Given the description of an element on the screen output the (x, y) to click on. 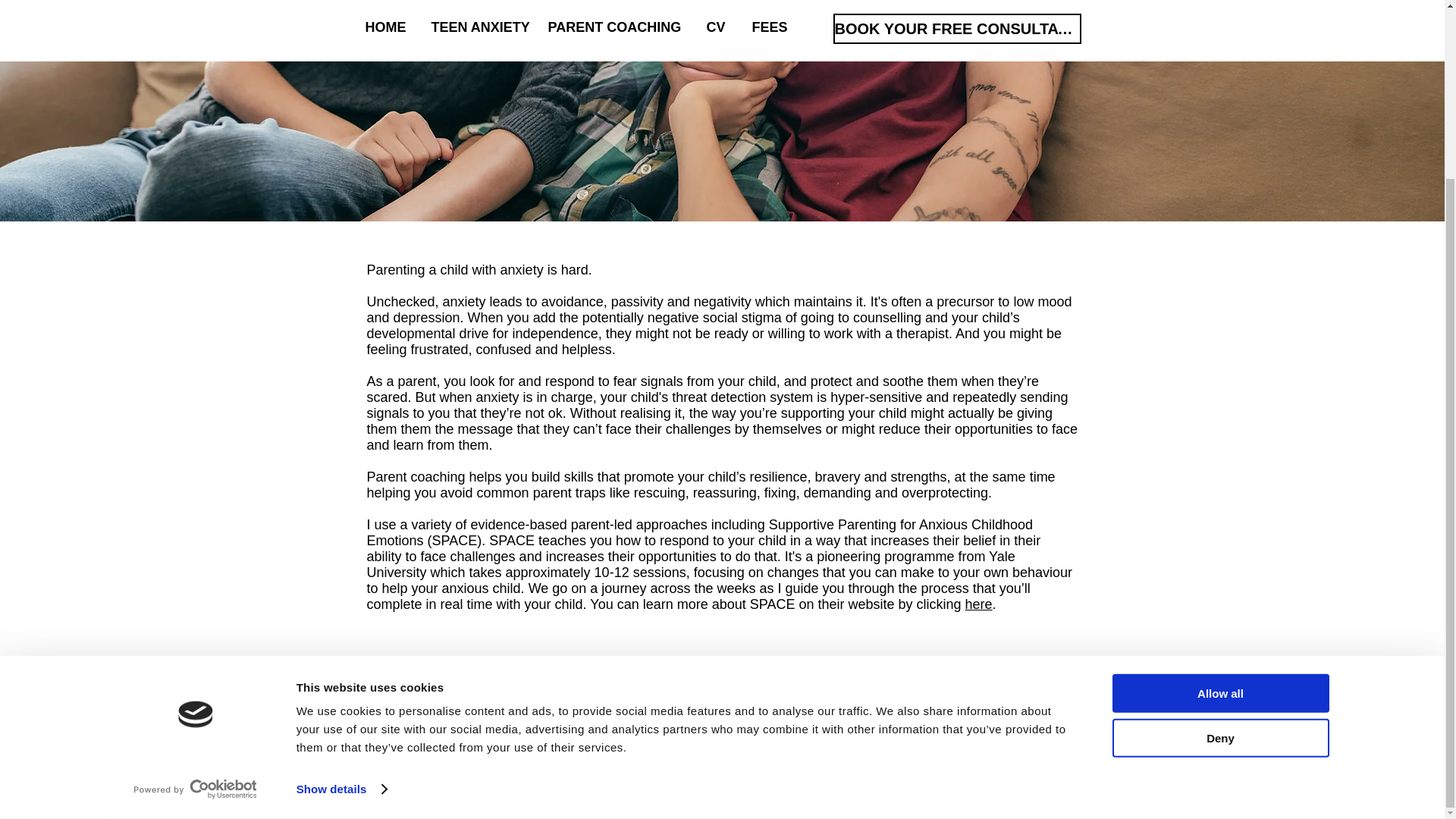
Show details (341, 570)
Deny (1219, 518)
Allow all (1219, 474)
